Given the description of an element on the screen output the (x, y) to click on. 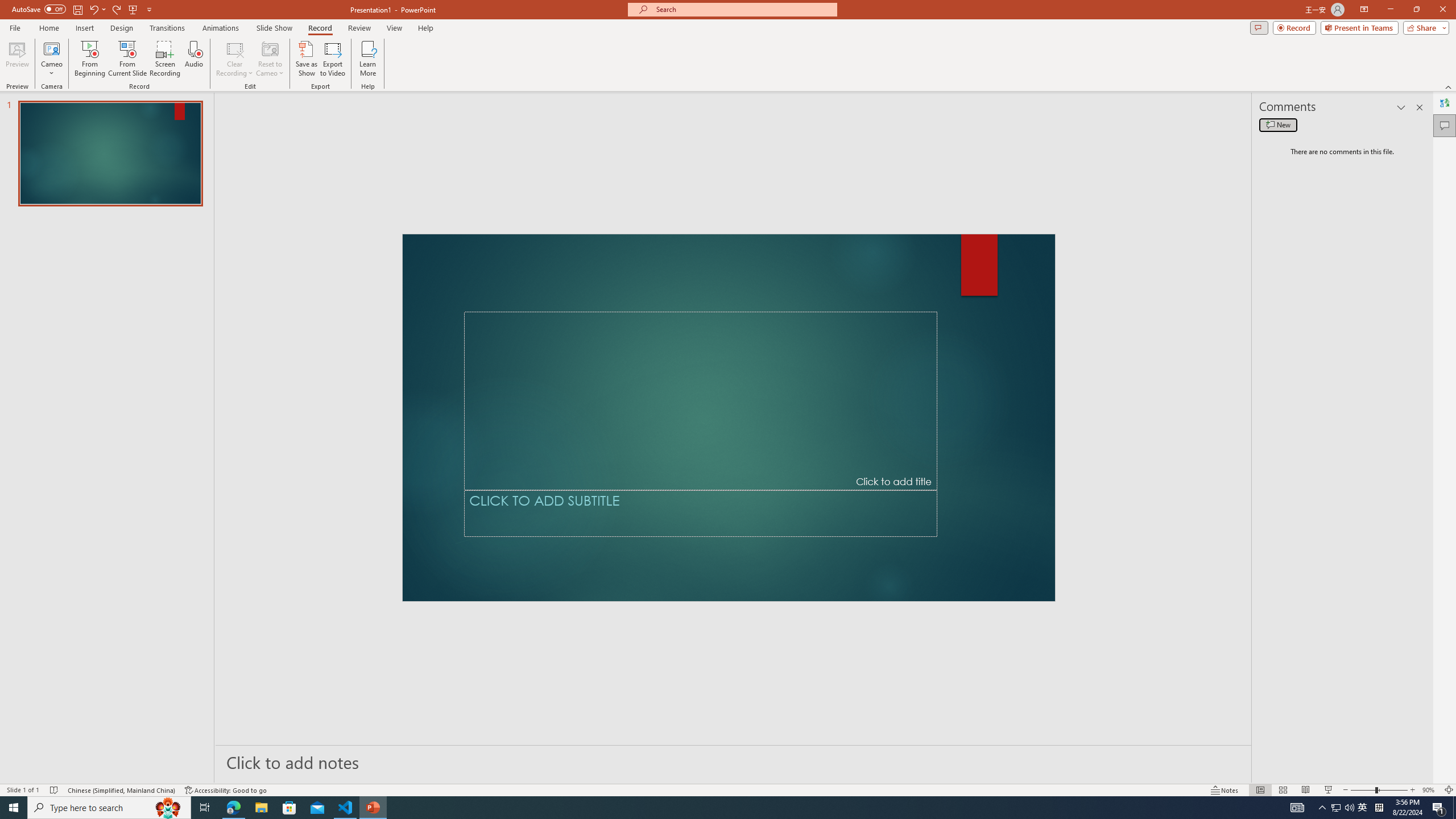
Zoom 90% (1430, 790)
